Given the description of an element on the screen output the (x, y) to click on. 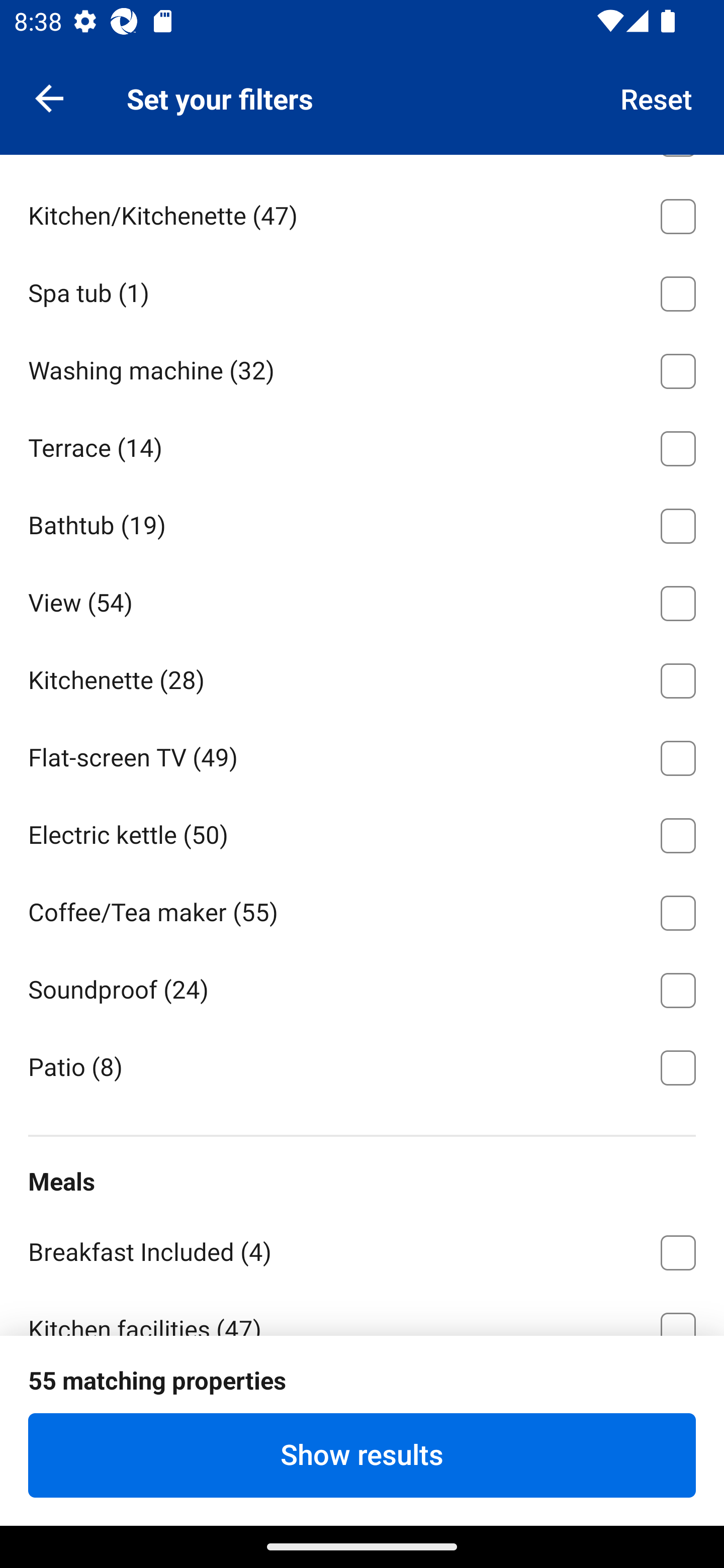
Navigate up (49, 97)
Reset (656, 97)
Kitchen/Kitchenette ⁦(47) (361, 213)
Spa tub ⁦(1) (361, 290)
Washing machine ⁦(32) (361, 367)
Terrace ⁦(14) (361, 445)
Bathtub ⁦(19) (361, 522)
View ⁦(54) (361, 599)
Kitchenette ⁦(28) (361, 677)
Flat-screen TV ⁦(49) (361, 754)
Electric kettle ⁦(50) (361, 831)
Coffee/Tea maker ⁦(55) (361, 909)
Soundproof ⁦(24) (361, 986)
Patio ⁦(8) (361, 1066)
Breakfast Included ⁦(4) (361, 1248)
Kitchen facilities ⁦(47) (361, 1311)
Show results (361, 1454)
